Given the description of an element on the screen output the (x, y) to click on. 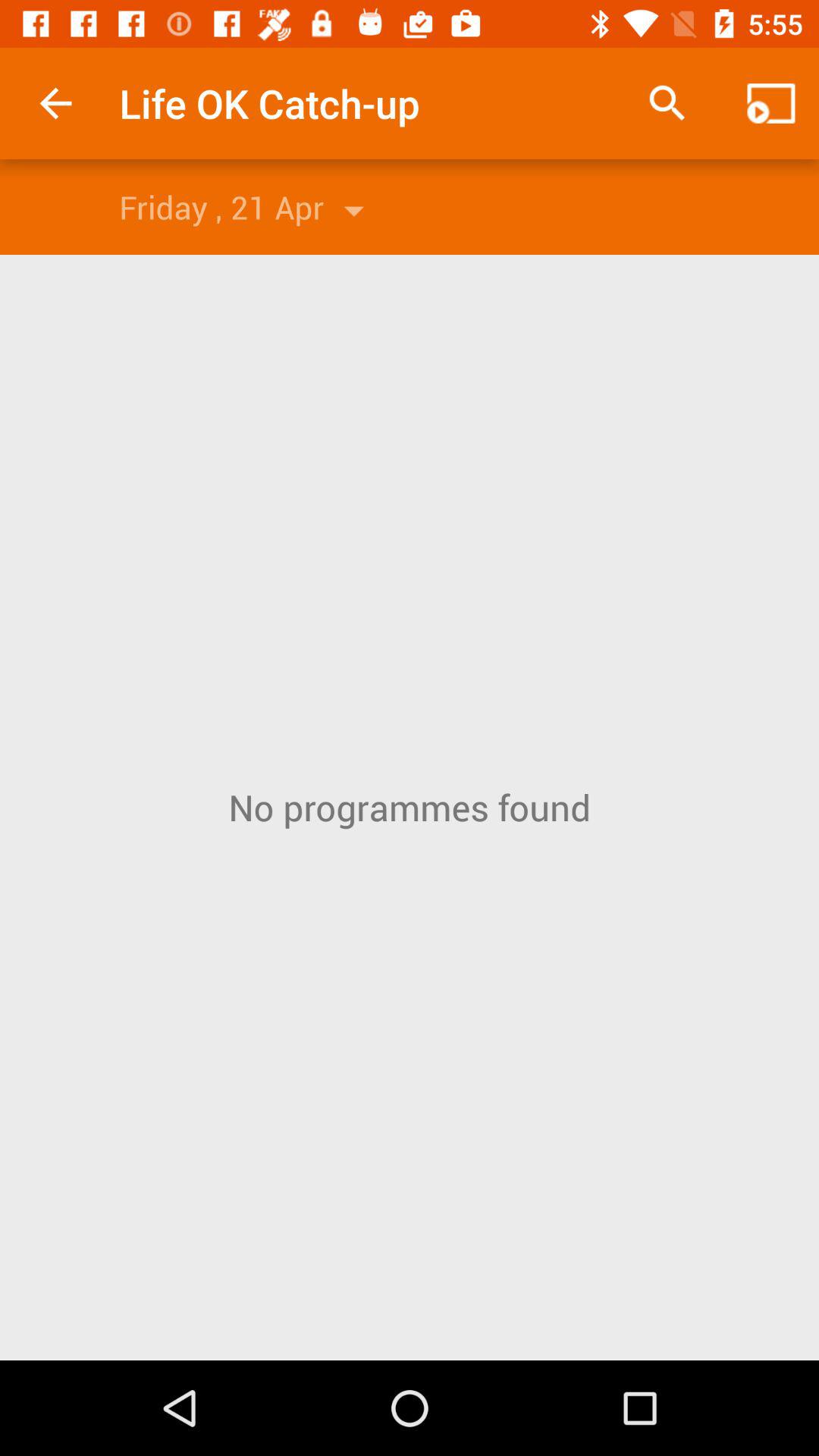
select app to the left of the life ok catch (55, 103)
